Given the description of an element on the screen output the (x, y) to click on. 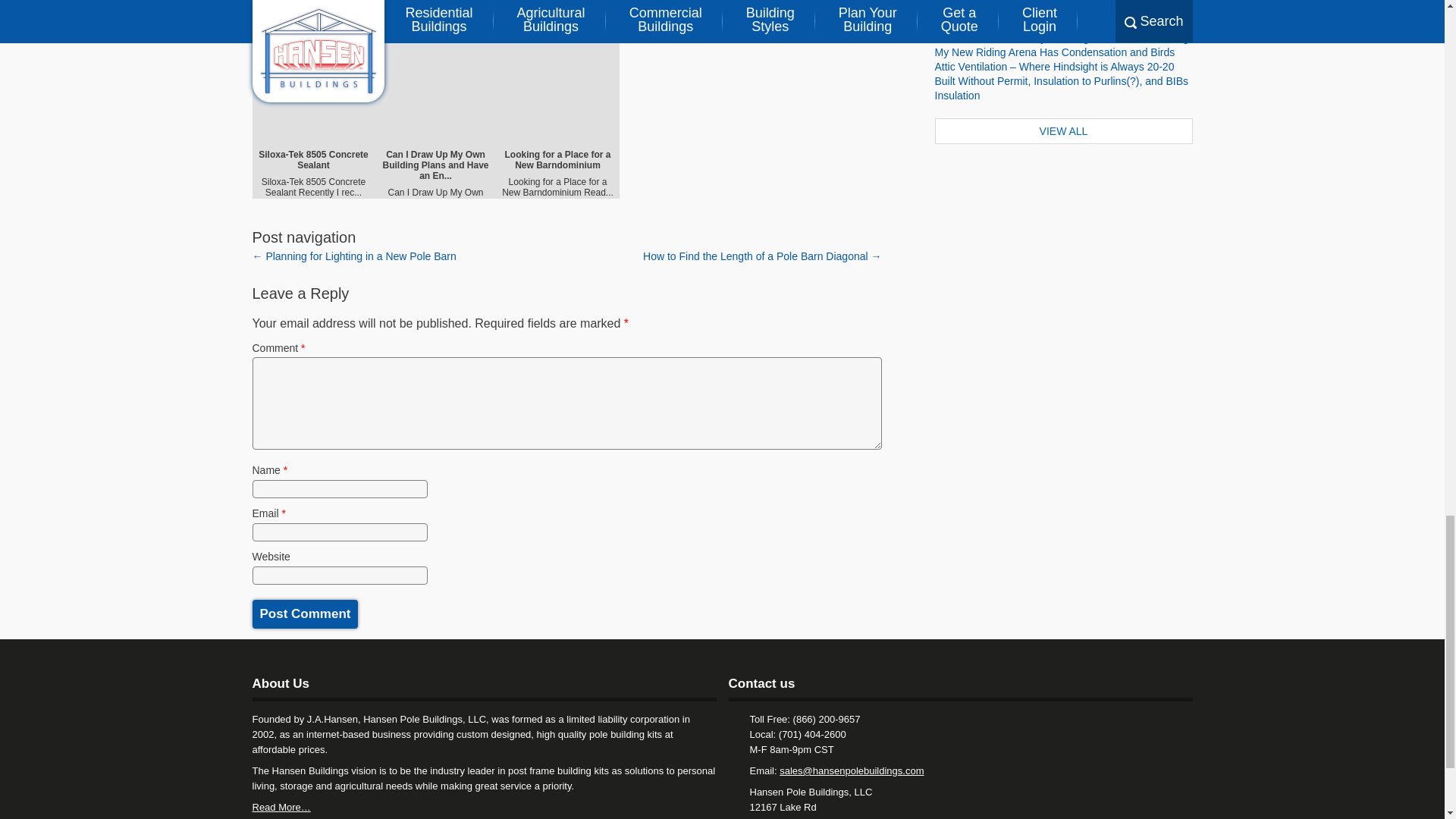
Post Comment (304, 613)
